Given the description of an element on the screen output the (x, y) to click on. 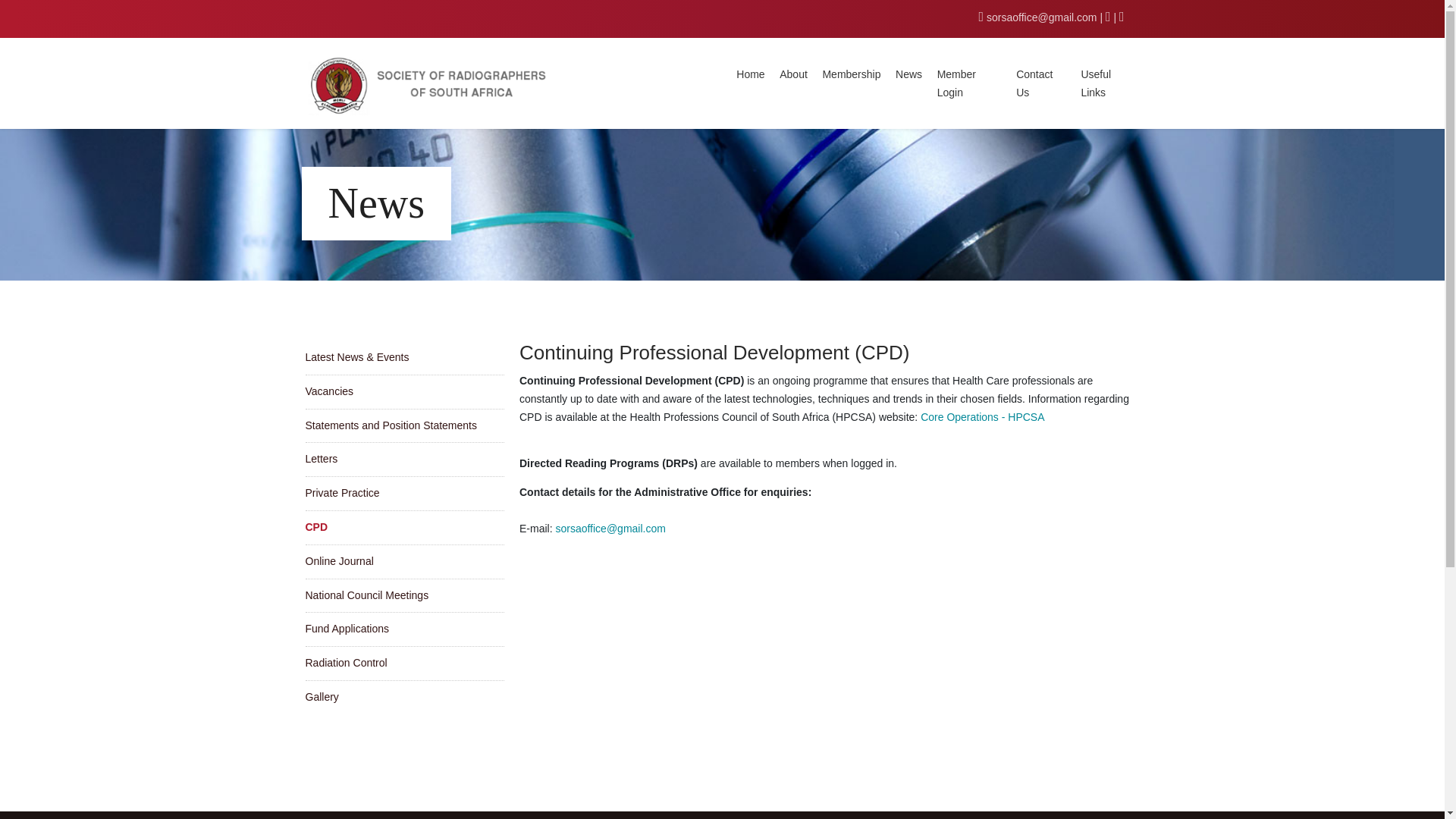
Home (750, 73)
National Council Meetings (403, 595)
Useful Links (1095, 82)
Fund Applications (403, 629)
Membership (851, 73)
Online Journal (403, 561)
Statements and Position Statements (403, 426)
Vacancies (403, 391)
Letters (403, 459)
CPD (403, 527)
